Given the description of an element on the screen output the (x, y) to click on. 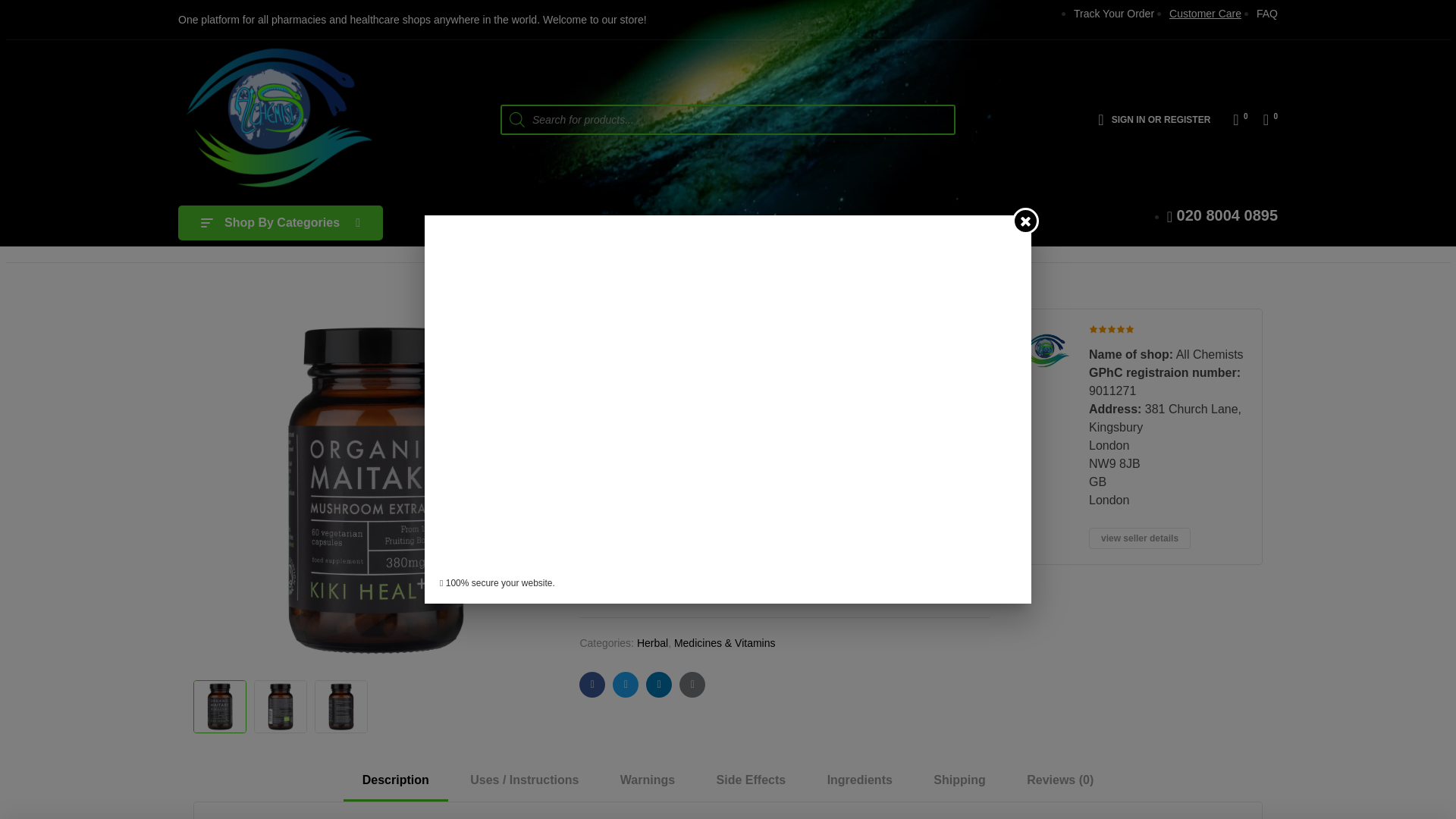
Track Your Order (1114, 13)
1 (639, 558)
Qty (639, 558)
Share on facebook (592, 684)
Share on Twitter (625, 684)
maitake-1 (374, 489)
FAQ (1267, 13)
Customer Care (1205, 13)
Share on LinkedIn (658, 684)
Share on Google plus (691, 684)
